Given the description of an element on the screen output the (x, y) to click on. 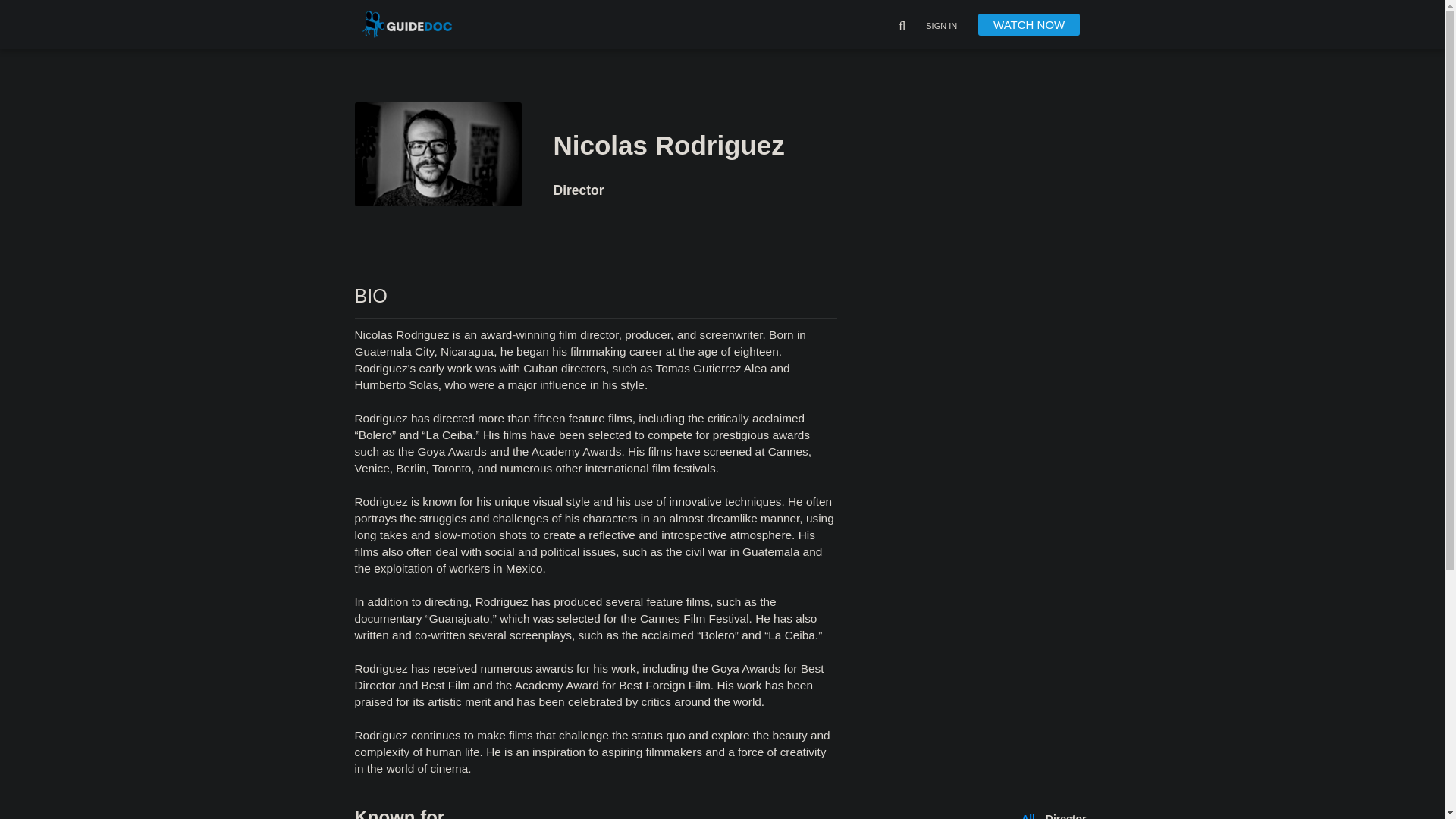
All (1028, 816)
Director (1065, 816)
SIGN IN (941, 26)
WATCH NOW (1029, 24)
